Given the description of an element on the screen output the (x, y) to click on. 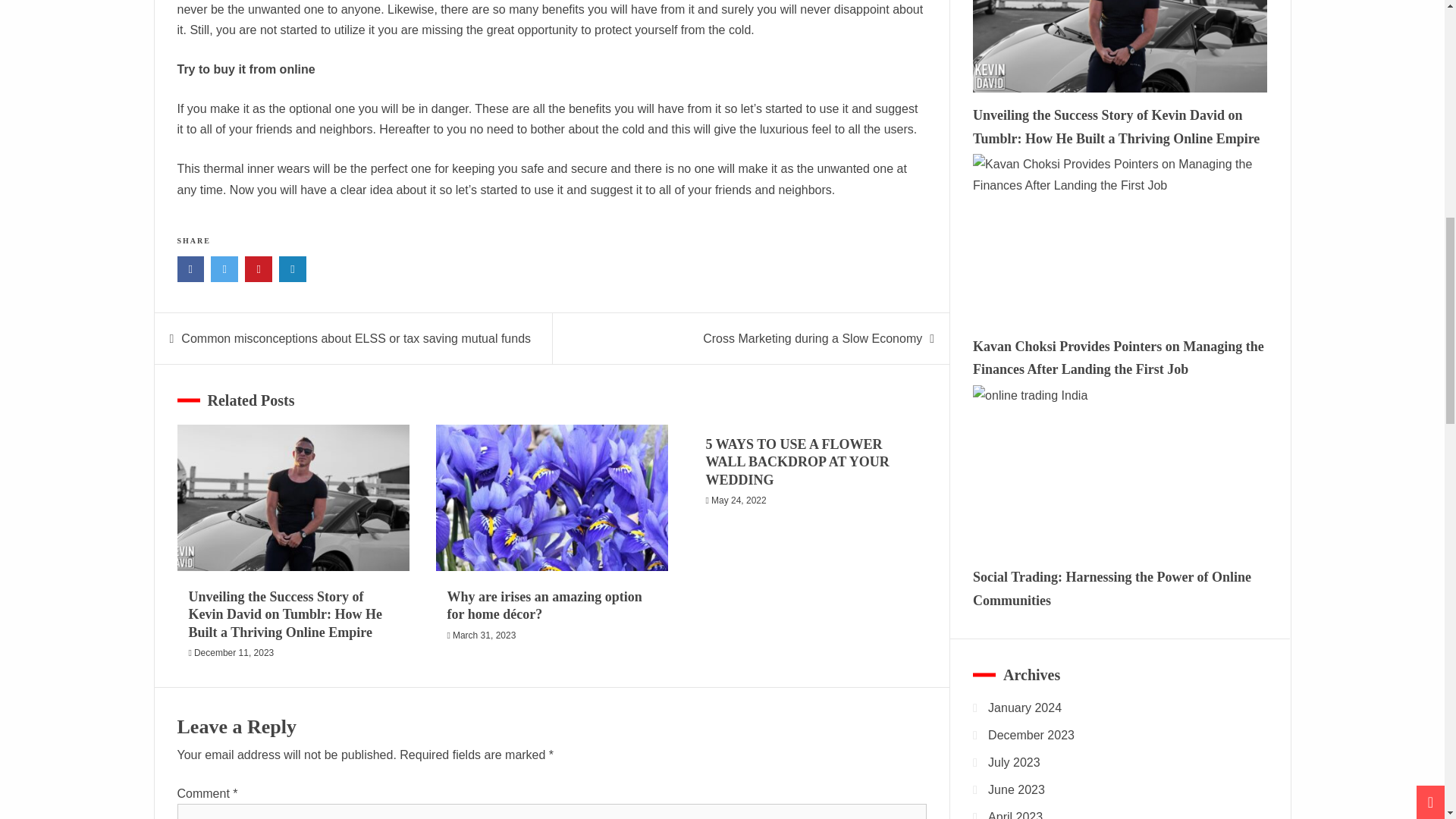
5 WAYS TO USE A FLOWER WALL BACKDROP AT YOUR WEDDING (797, 461)
May 24, 2022 (739, 500)
March 31, 2023 (483, 634)
Cross Marketing during a Slow Economy (812, 338)
December 11, 2023 (233, 652)
Common misconceptions about ELSS or tax saving mutual funds (355, 338)
